Given the description of an element on the screen output the (x, y) to click on. 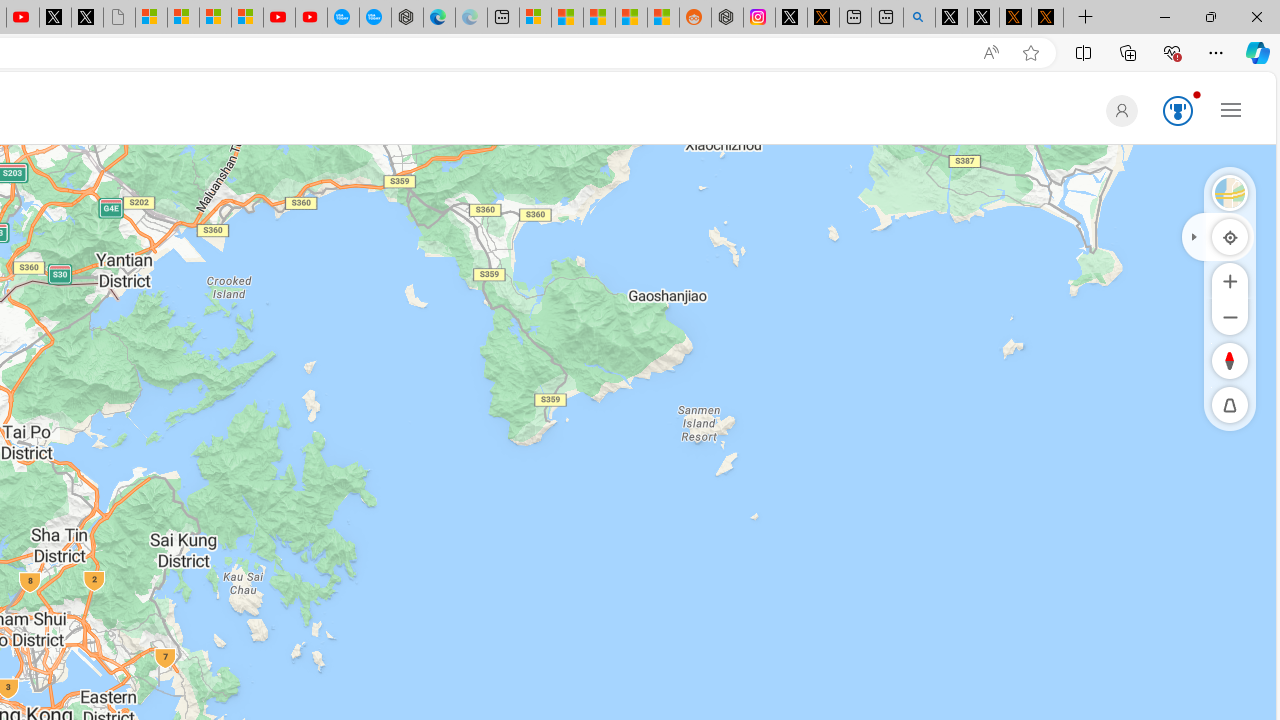
Reset to Default Rotation (1230, 360)
Microsoft Rewards 153 (1174, 111)
Profile / X (950, 17)
Zoom Out (1230, 316)
AutomationID: rh_meter (1178, 110)
Animation (1196, 94)
X Privacy Policy (1047, 17)
help.x.com | 524: A timeout occurred (822, 17)
Reset to Default Pitch (1230, 405)
